Given the description of an element on the screen output the (x, y) to click on. 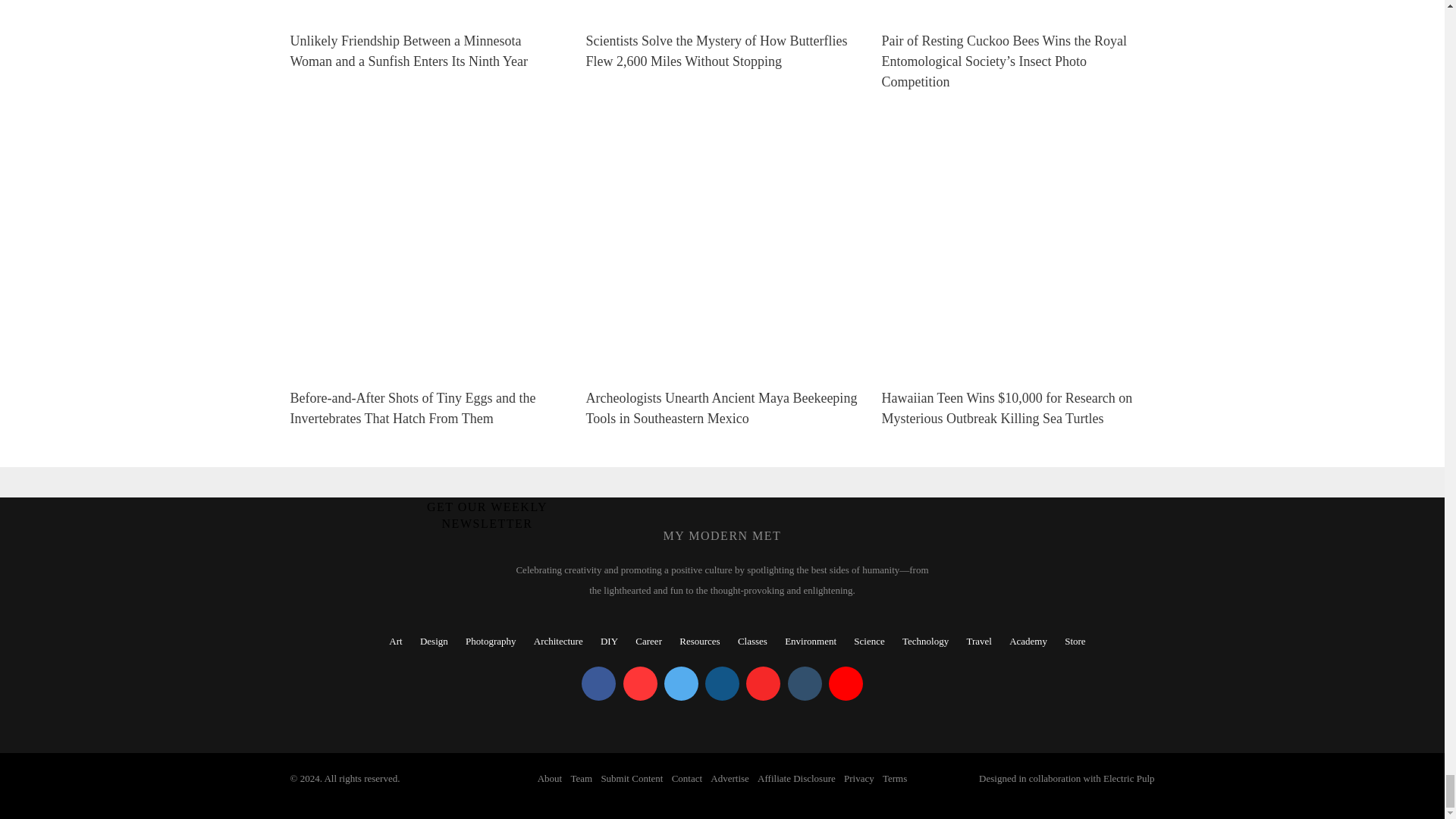
My Modern Met on Pinterest (640, 683)
My Modern Met on YouTube (845, 683)
My Modern Met on Twitter (680, 683)
My Modern Met on Tumblr (804, 683)
My Modern Met on Facebook (597, 683)
My Modern Met on Instagram (721, 683)
